Given the description of an element on the screen output the (x, y) to click on. 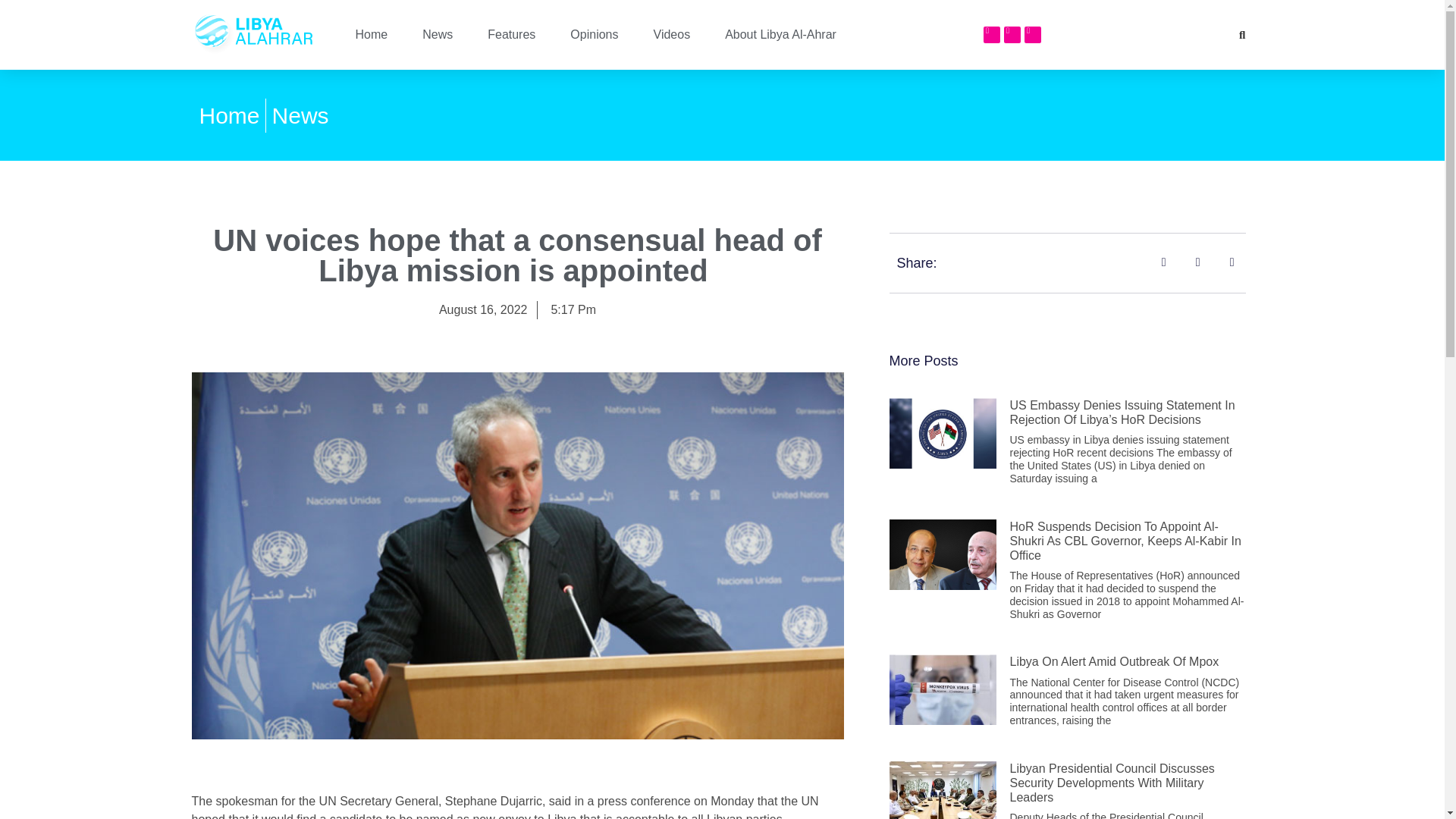
Features (510, 34)
Search (1237, 35)
About Libya Al-Ahrar (780, 34)
Videos (672, 34)
News (300, 115)
Home (371, 34)
Opinions (593, 34)
August 16, 2022 (483, 310)
Home (228, 115)
